Given the description of an element on the screen output the (x, y) to click on. 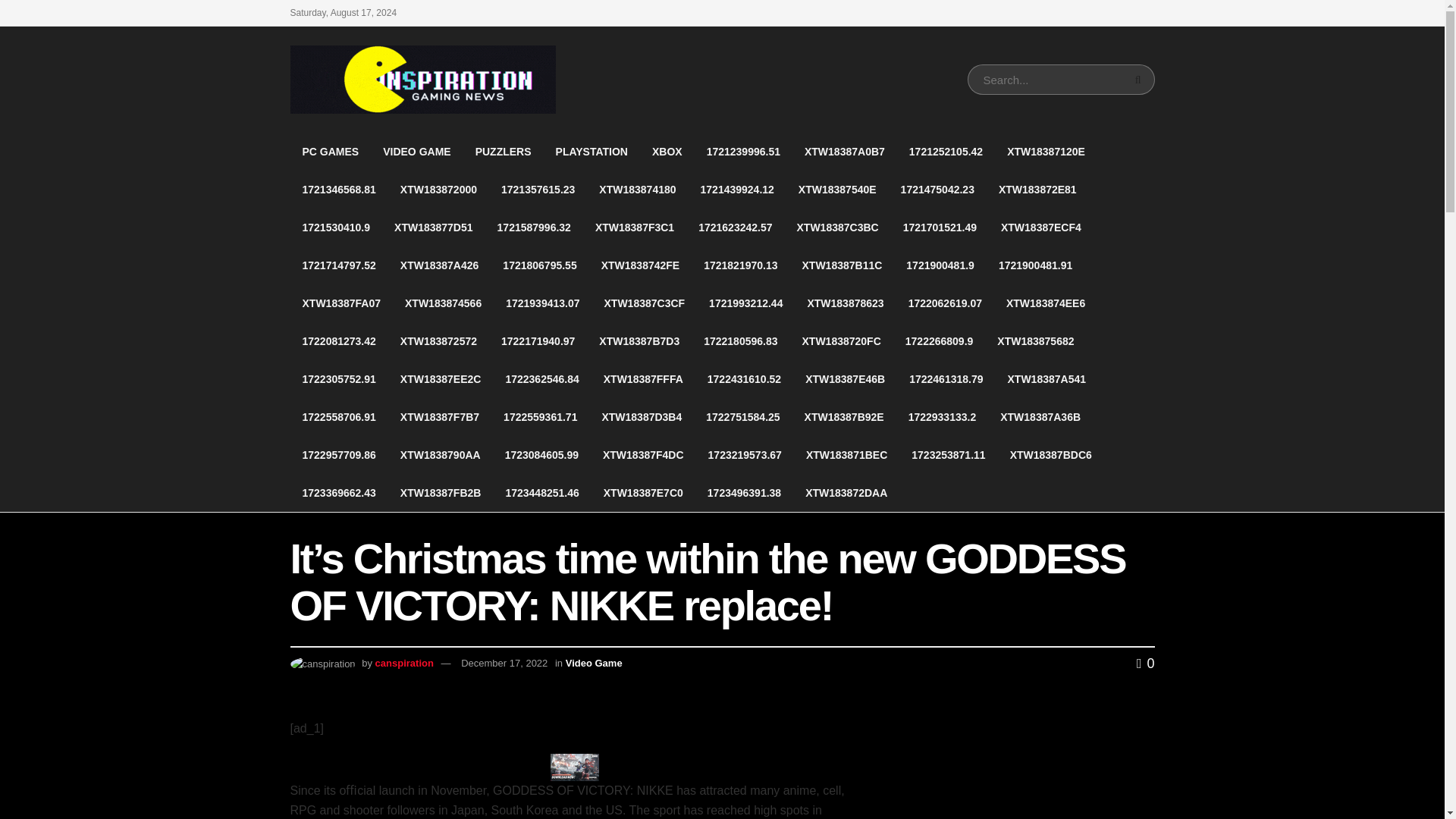
XTW183872E81 (1038, 189)
XTW18387FA07 (341, 303)
1721439924.12 (737, 189)
XTW18387A0B7 (844, 151)
XTW183877D51 (432, 227)
XTW183874566 (443, 303)
VIDEO GAME (417, 151)
XTW183872000 (438, 189)
1721587996.32 (533, 227)
XBOX (667, 151)
